Given the description of an element on the screen output the (x, y) to click on. 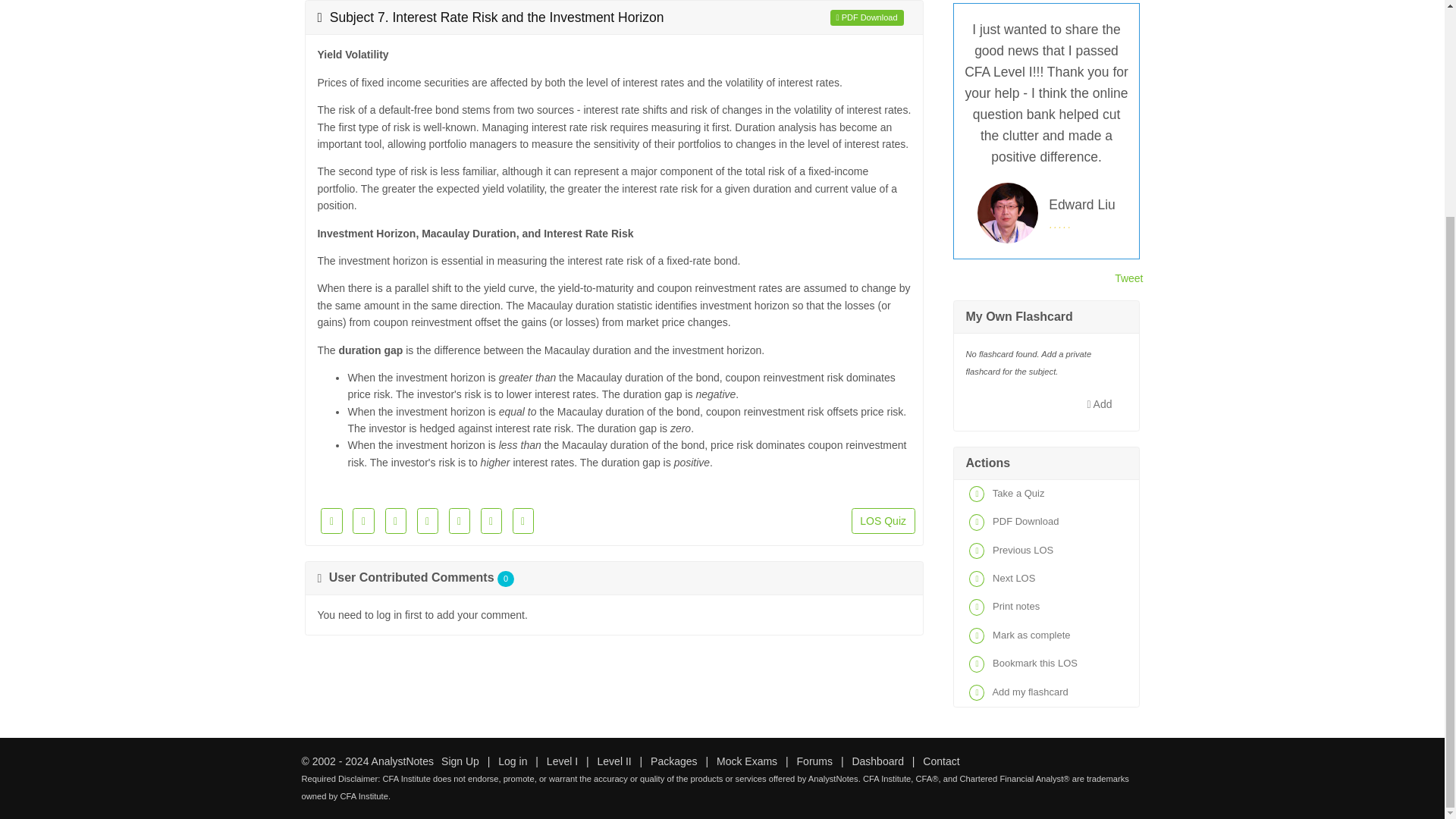
Add (1098, 403)
PDF Download (1045, 521)
Tweet (1128, 277)
Take a Quiz (1045, 493)
PDF Download (866, 17)
LOS Quiz (883, 520)
